Given the description of an element on the screen output the (x, y) to click on. 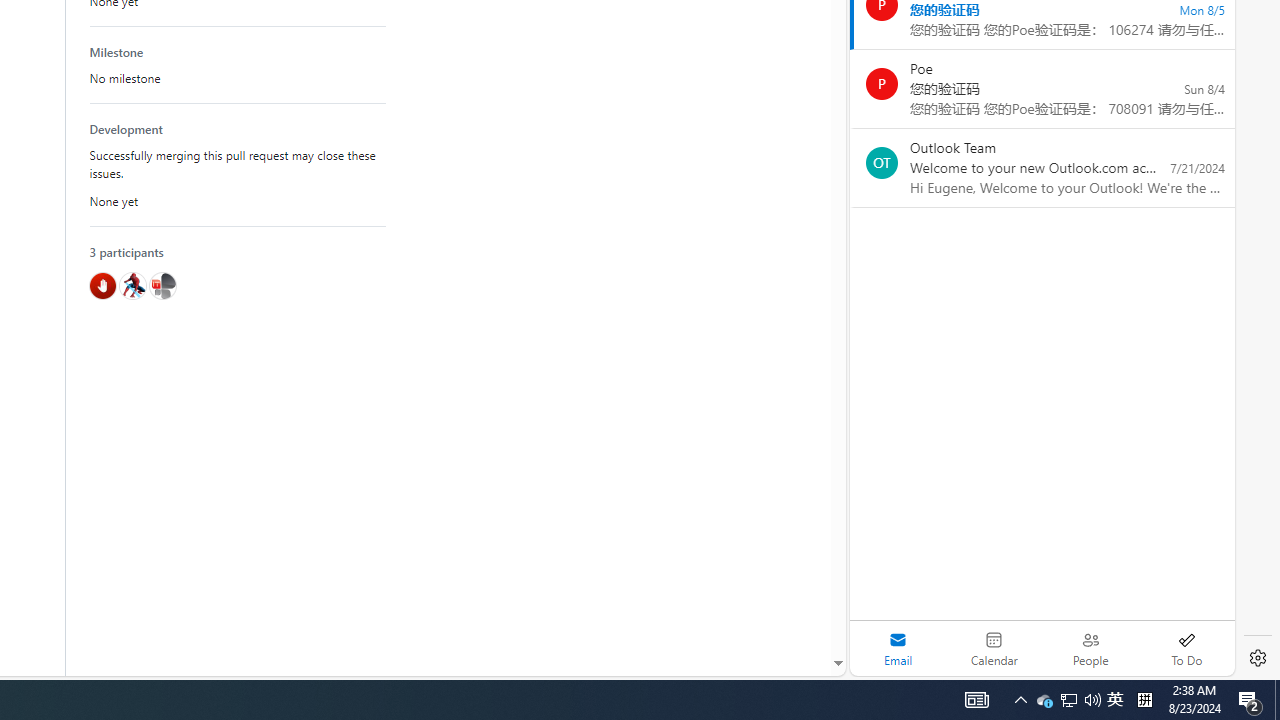
@MajkiIT (162, 285)
@MajkiIT (162, 285)
People (1090, 648)
@hawkeye116477 (132, 285)
Selected mail module (898, 648)
To Do (1186, 648)
@blocker999 (102, 285)
Calendar. Date today is 22 (994, 648)
@hawkeye116477 (132, 285)
@blocker999 (102, 285)
